Given the description of an element on the screen output the (x, y) to click on. 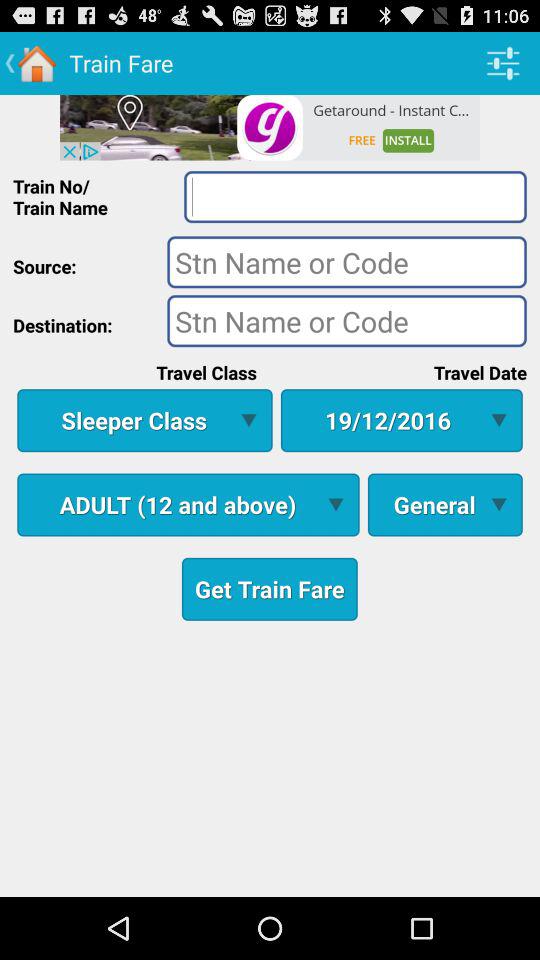
enter train number or name (355, 196)
